Given the description of an element on the screen output the (x, y) to click on. 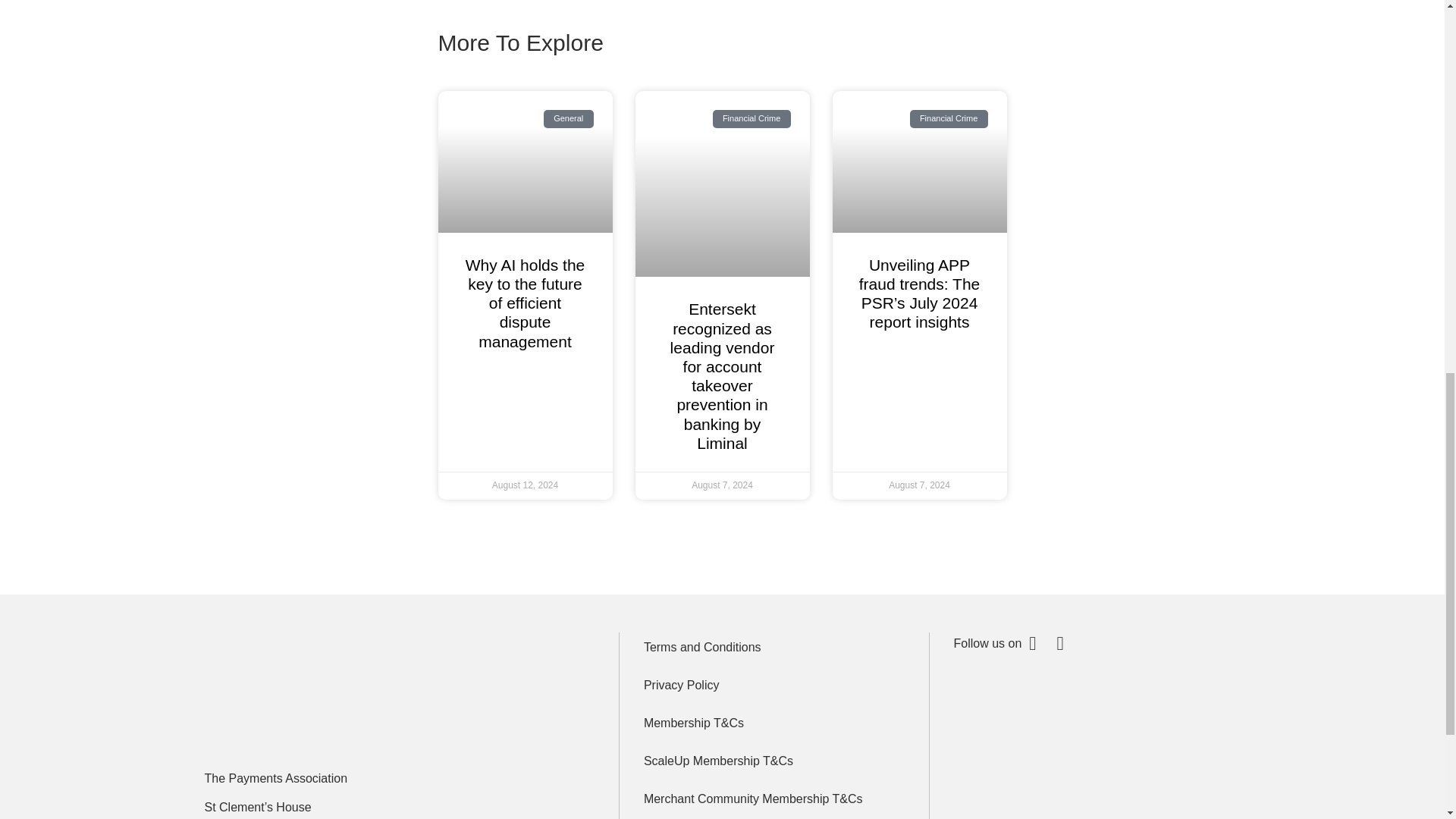
Privacy Policy (773, 685)
Terms and Conditions (773, 647)
